Given the description of an element on the screen output the (x, y) to click on. 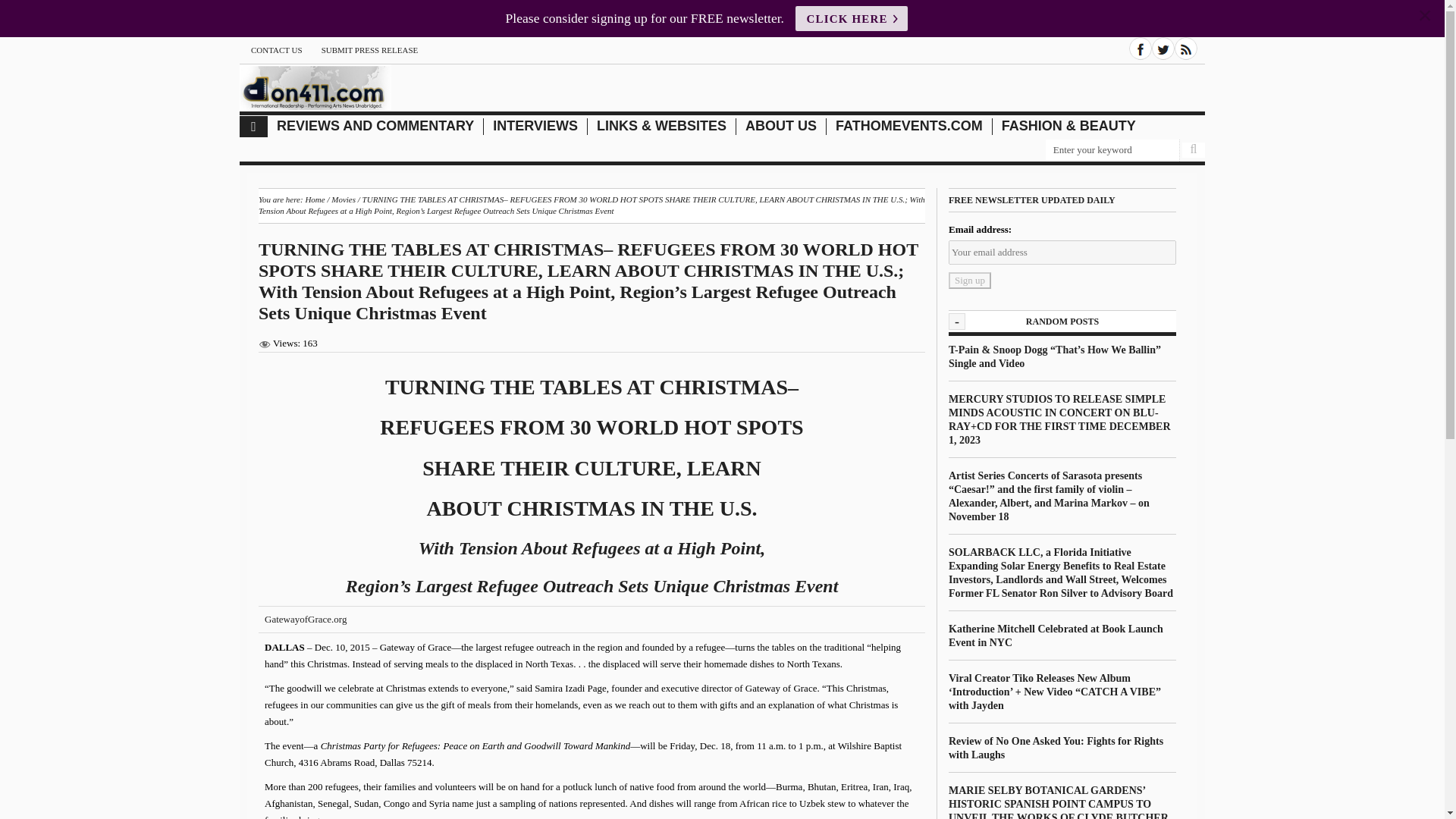
Home (253, 126)
Twitter (1162, 47)
REVIEWS AND COMMENTARY (375, 125)
Facebook (1140, 47)
Movies (343, 198)
INTERVIEWS (535, 125)
Enter your keyword (1112, 150)
RSS (1185, 47)
Sign up (970, 280)
CONTACT US (276, 49)
FATHOMEVENTS.COM (908, 125)
SUBMIT PRESS RELEASE (370, 49)
Enter your keyword (1112, 150)
ABOUT US (780, 125)
Home (314, 198)
